Given the description of an element on the screen output the (x, y) to click on. 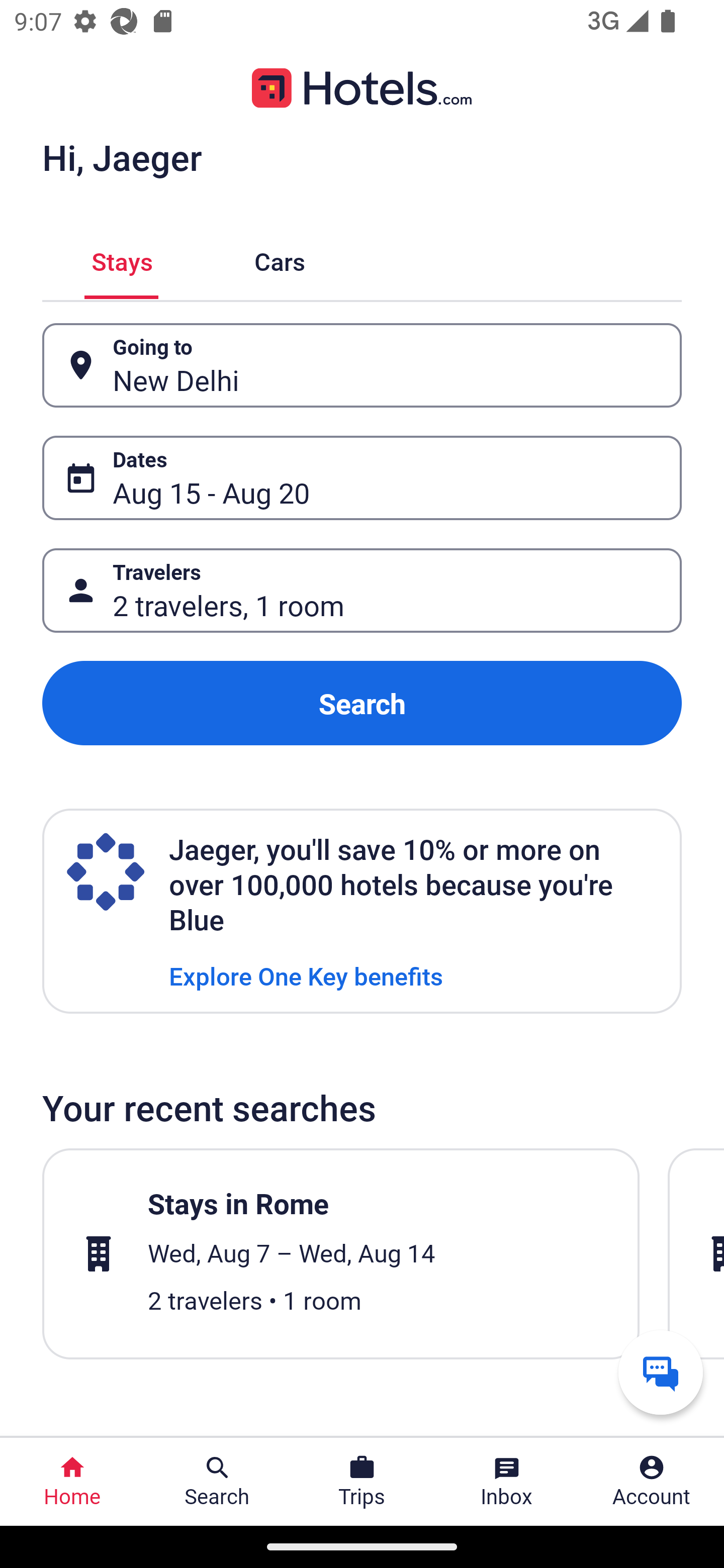
Hi, Jaeger (121, 156)
Cars (279, 259)
Going to Button New Delhi (361, 365)
Dates Button Aug 15 - Aug 20 (361, 477)
Travelers Button 2 travelers, 1 room (361, 590)
Search (361, 702)
Get help from a virtual agent (660, 1371)
Search Search Button (216, 1481)
Trips Trips Button (361, 1481)
Inbox Inbox Button (506, 1481)
Account Profile. Button (651, 1481)
